Given the description of an element on the screen output the (x, y) to click on. 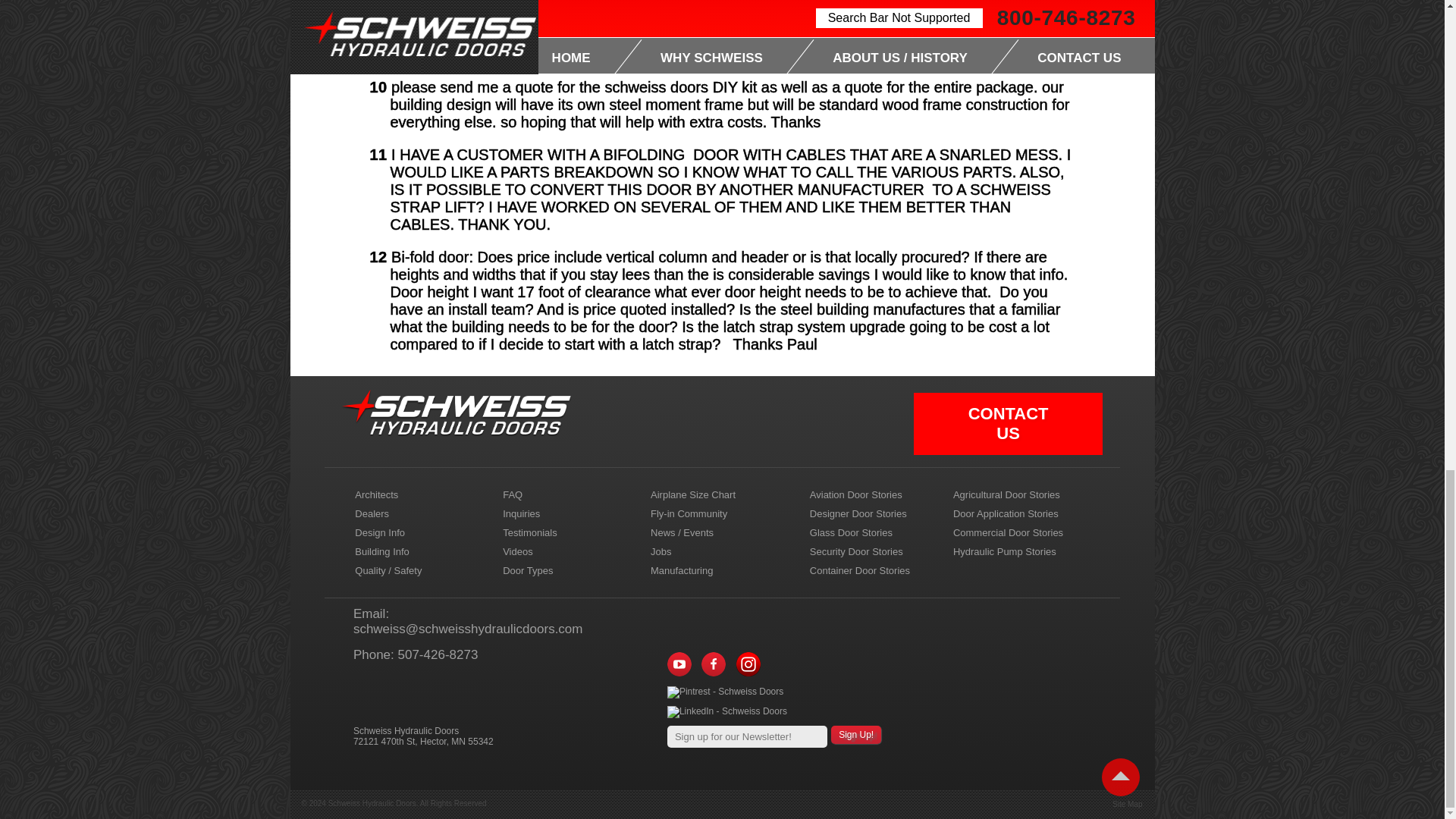
Schweiss Hydraulic Doors Logo (456, 412)
FAQ (569, 494)
Fly-in Community (718, 513)
Design Info (422, 532)
Door Types (569, 570)
Building Info (422, 551)
Videos (569, 551)
Airplane Size Chart (718, 494)
Dealers (422, 513)
CONTACT US (1008, 423)
